Given the description of an element on the screen output the (x, y) to click on. 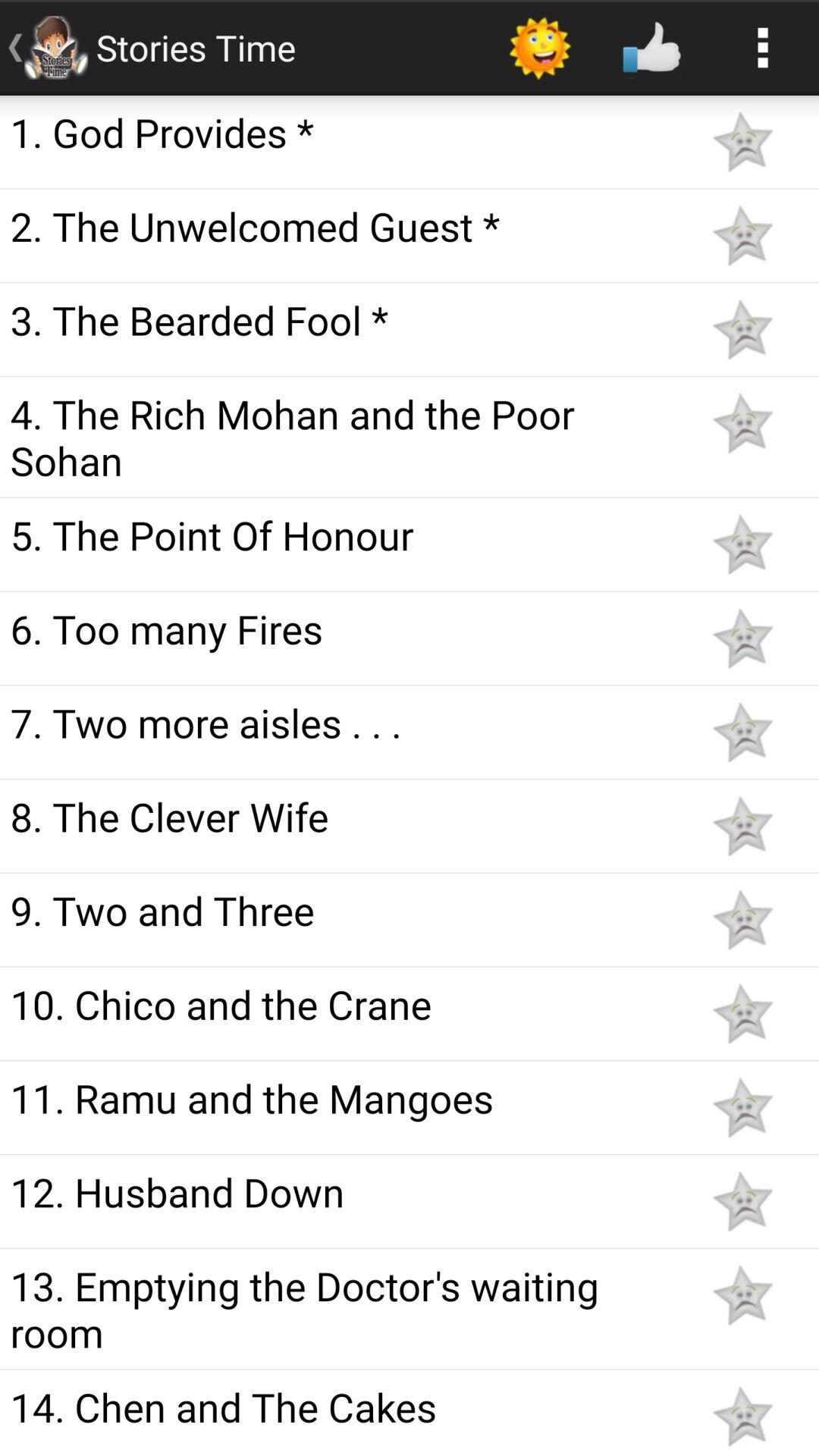
like the article (742, 544)
